Given the description of an element on the screen output the (x, y) to click on. 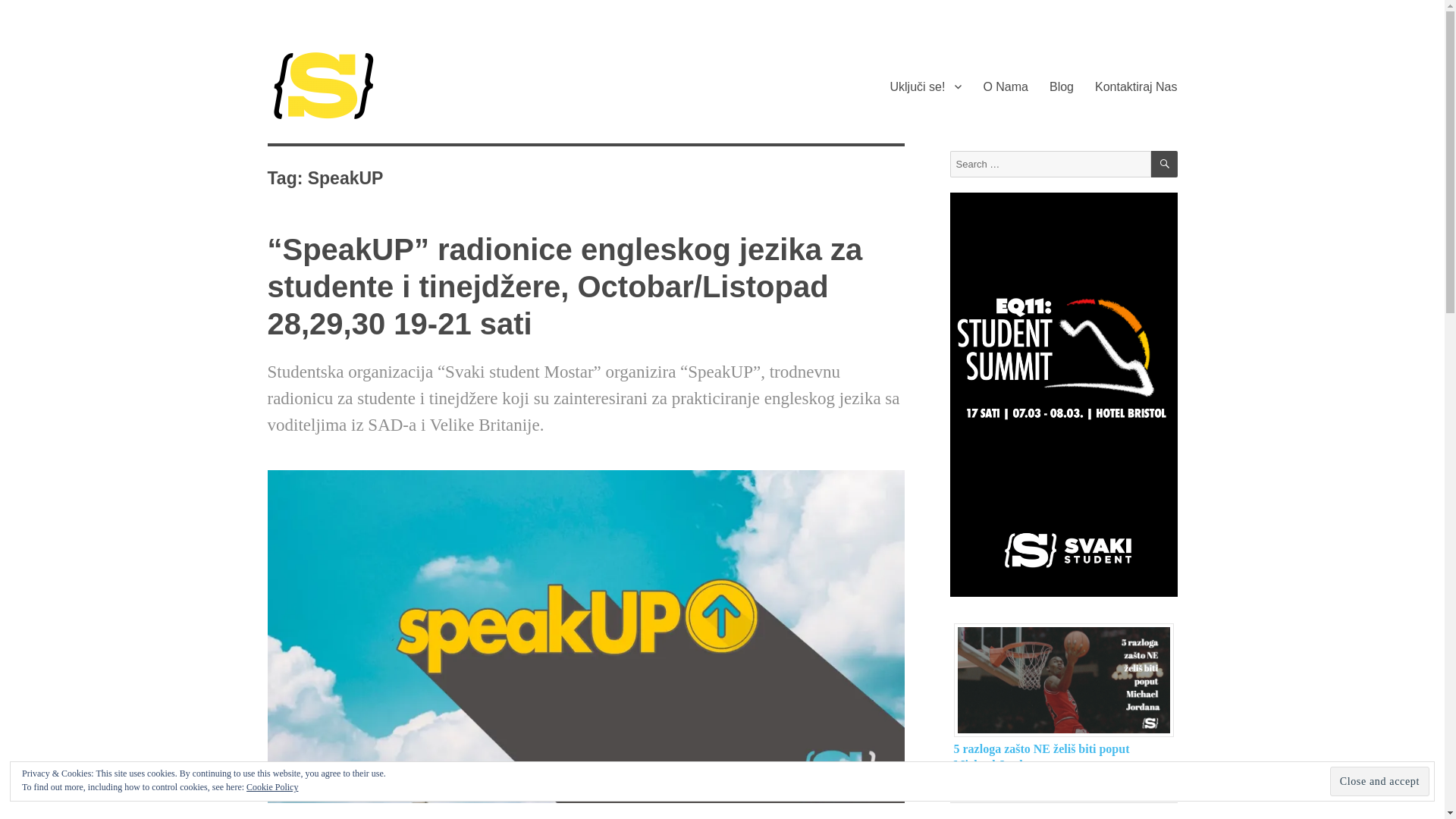
Cookie Policy Element type: text (272, 786)
Svaki Student Element type: text (336, 166)
Kontaktiraj Nas Element type: text (1136, 86)
Blog Element type: text (1061, 86)
Close and accept Element type: text (1379, 781)
February 20, 2018 Element type: hover (962, 785)
O Nama Element type: text (1005, 86)
